Given the description of an element on the screen output the (x, y) to click on. 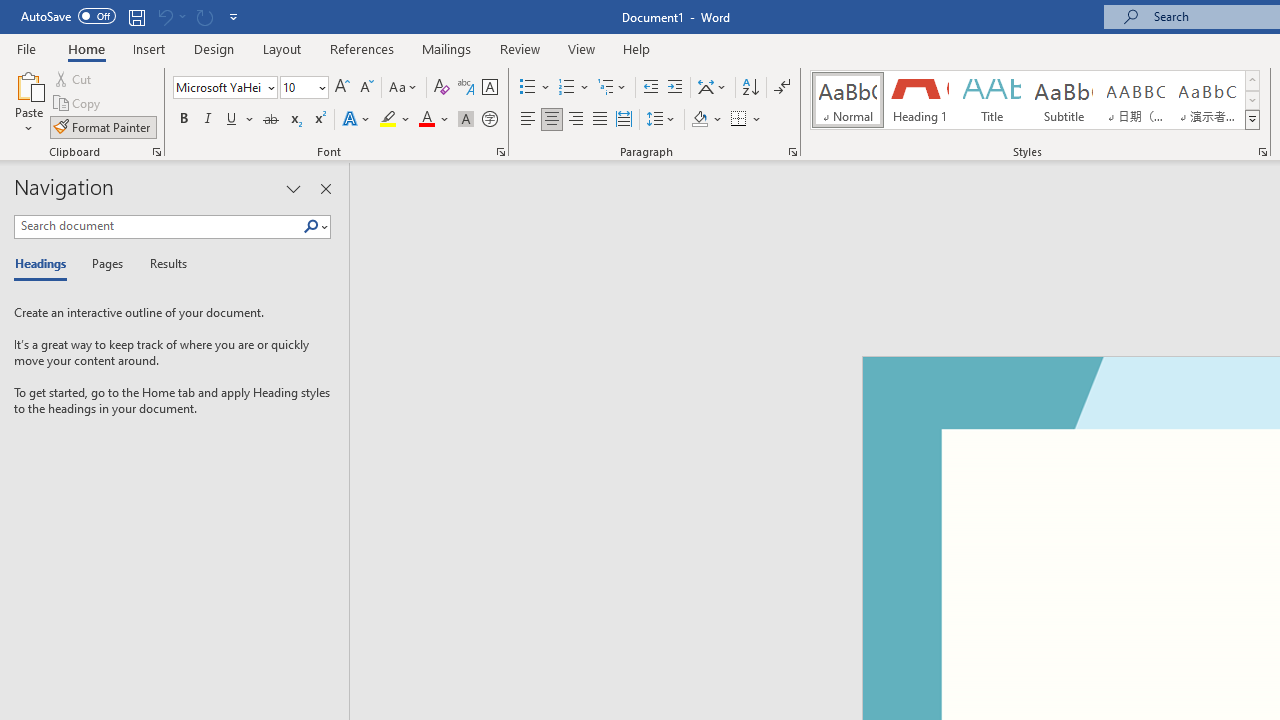
Shrink Font (365, 87)
Design (214, 48)
Numbering (573, 87)
Subtitle (1063, 100)
System (10, 11)
Font Size (297, 87)
Borders (739, 119)
Subscript (294, 119)
Font Size (304, 87)
Office Clipboard... (156, 151)
Align Left (527, 119)
Task Pane Options (293, 188)
Search document (157, 226)
Font... (500, 151)
Insert (149, 48)
